Given the description of an element on the screen output the (x, y) to click on. 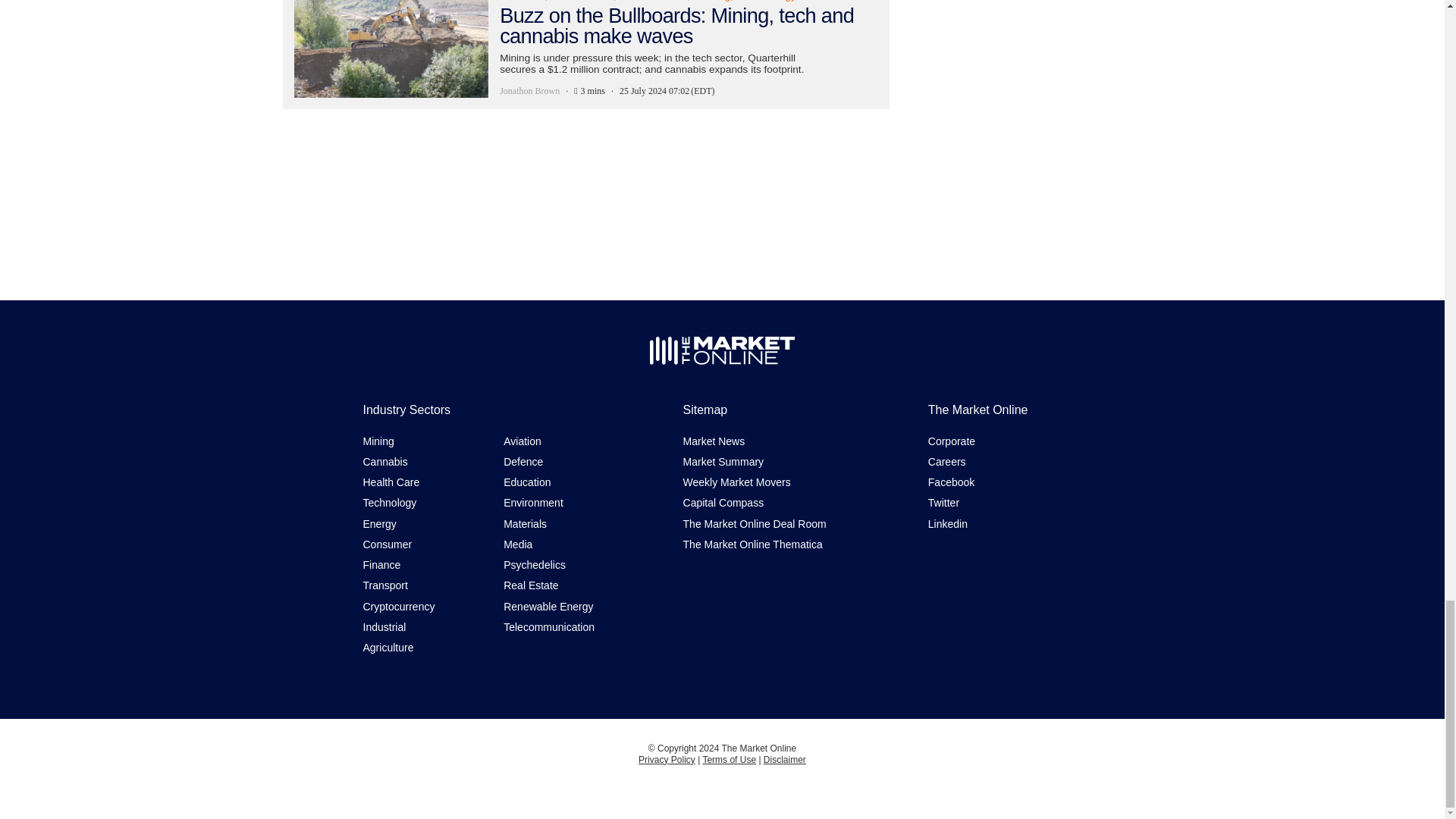
3rd party ad content (721, 170)
Buzz on the Bullboards: Mining, tech and cannabis make waves (585, 54)
View all posts by Jonathon Brown (529, 90)
